Given the description of an element on the screen output the (x, y) to click on. 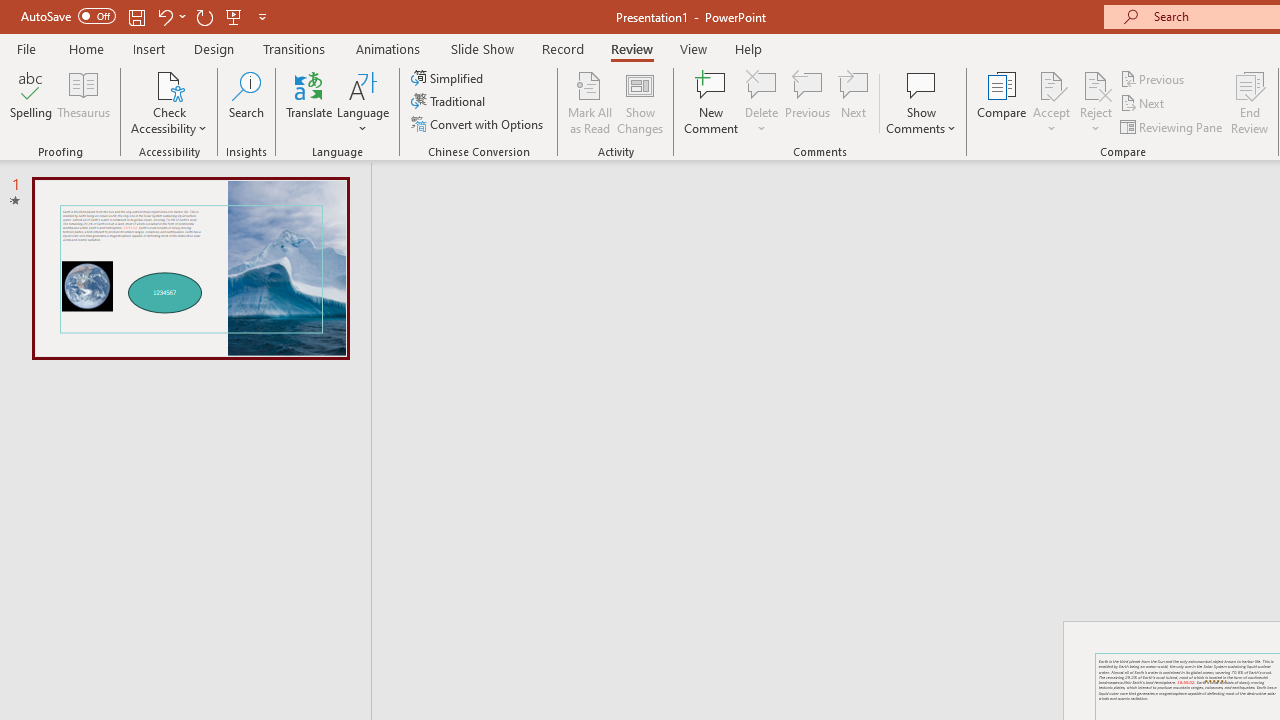
Reject Change (1096, 84)
Simplified (449, 78)
